Given the description of an element on the screen output the (x, y) to click on. 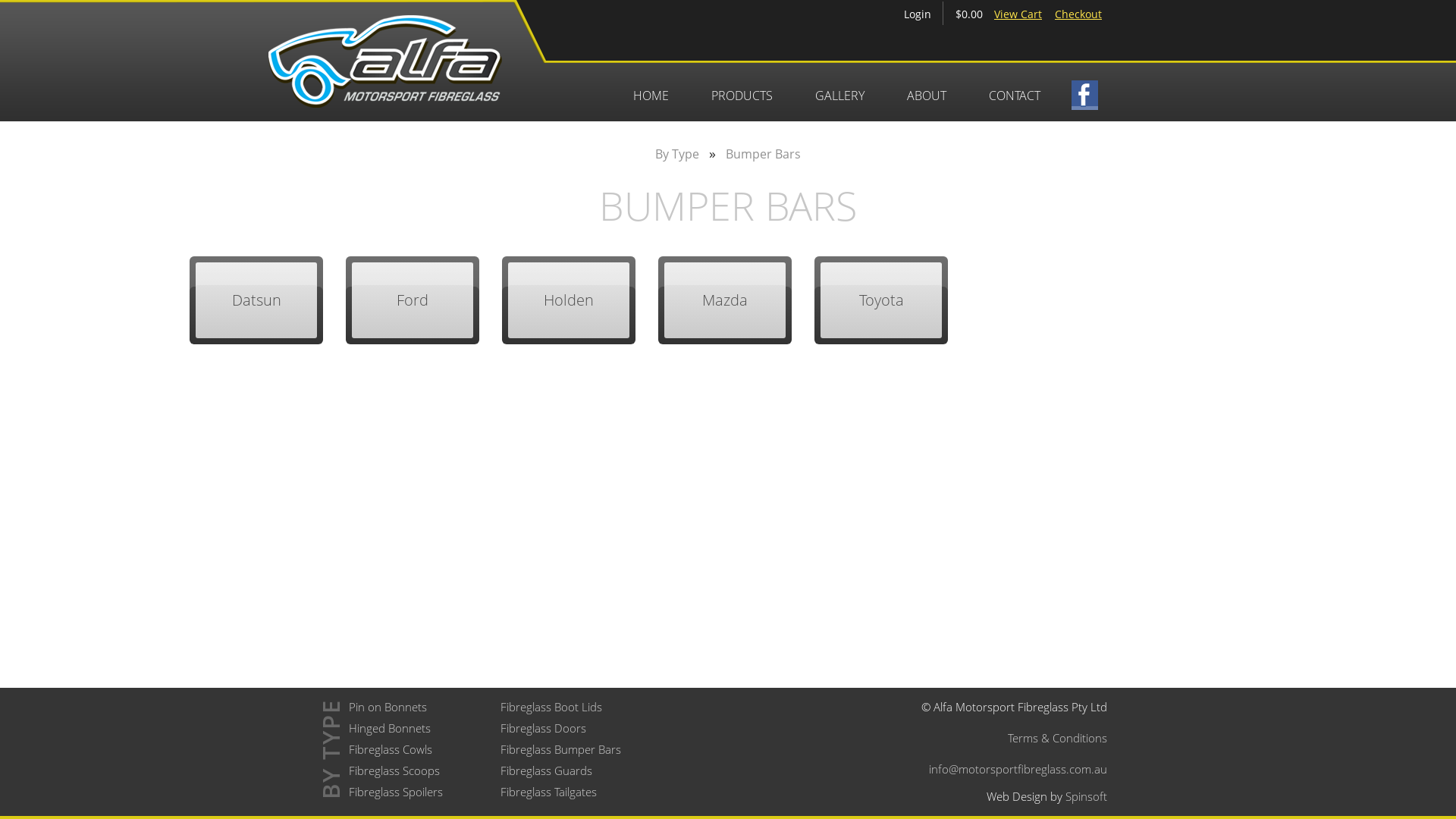
Fibreglass Spoilers Element type: text (395, 791)
info@motorsportfibreglass.com.au Element type: text (1017, 768)
Bumper Bars Element type: text (763, 153)
Fibreglass Tailgates Element type: text (548, 791)
Spinsoft Element type: text (1086, 795)
Fibreglass Doors Element type: text (543, 727)
View Cart Element type: text (1017, 13)
Ford Element type: text (412, 300)
Mazda Element type: text (724, 300)
Hinged Bonnets Element type: text (389, 727)
Holden Element type: text (568, 300)
HOME Element type: text (651, 101)
Terms & Conditions Element type: text (1057, 737)
PRODUCTS Element type: text (741, 101)
GALLERY Element type: text (839, 101)
Fibreglass Scoops Element type: text (393, 770)
ABOUT Element type: text (926, 101)
CONTACT Element type: text (1014, 101)
  Element type: text (1084, 101)
By Type Element type: text (676, 153)
Fibreglass Cowls Element type: text (390, 748)
Toyota Element type: text (880, 300)
Datsun Element type: text (255, 300)
Login Element type: text (917, 13)
Pin on Bonnets Element type: text (387, 706)
Checkout Element type: text (1078, 13)
Fibreglass Bumper Bars Element type: text (560, 748)
Fibreglass Boot Lids Element type: text (551, 706)
Fibreglass Guards Element type: text (546, 770)
